Given the description of an element on the screen output the (x, y) to click on. 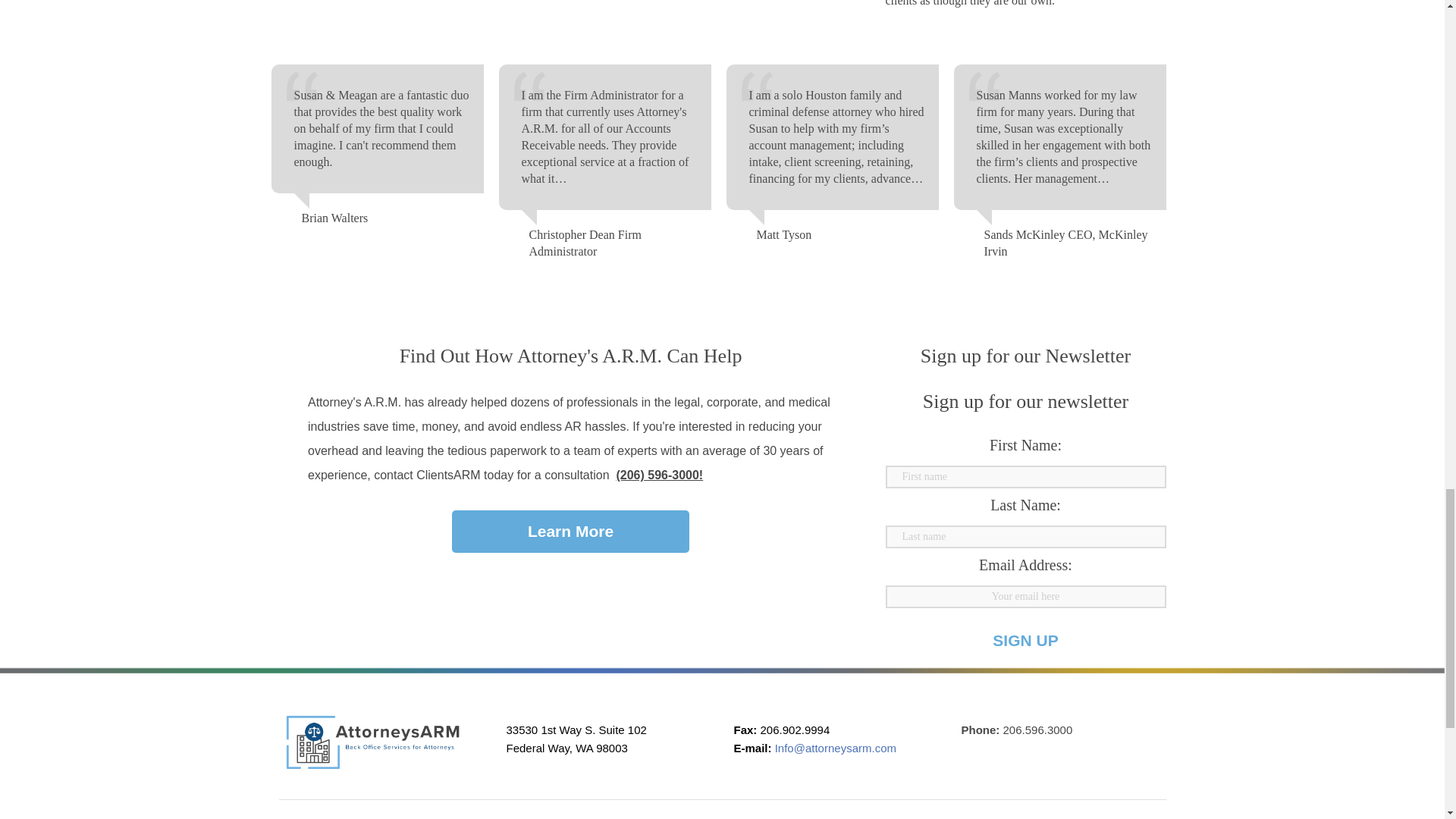
Learn More (569, 531)
Learn More (569, 531)
SIGN UP (1025, 640)
SIGN UP (1025, 640)
